Given the description of an element on the screen output the (x, y) to click on. 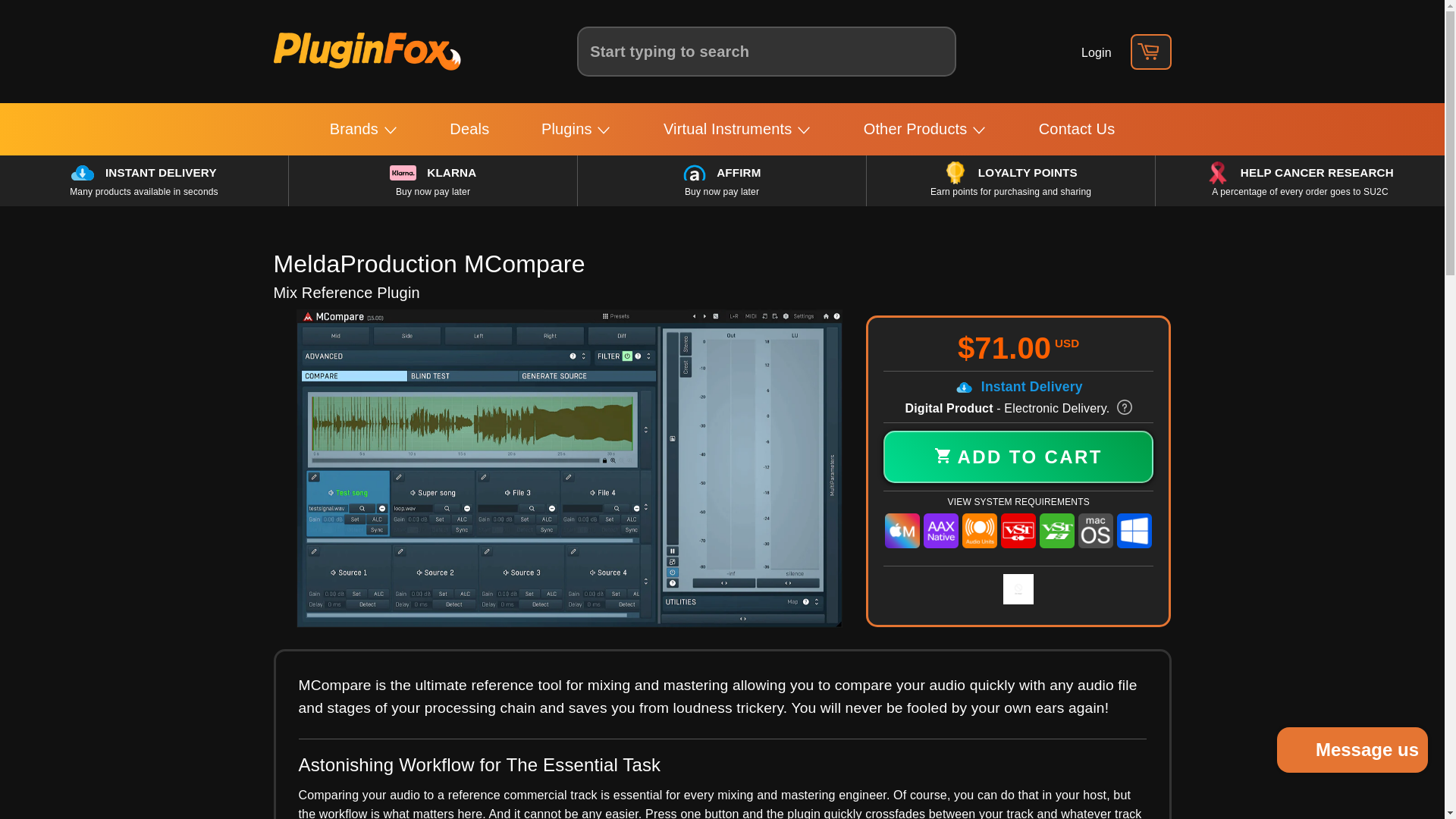
Shopify online store chat (1352, 751)
